Given the description of an element on the screen output the (x, y) to click on. 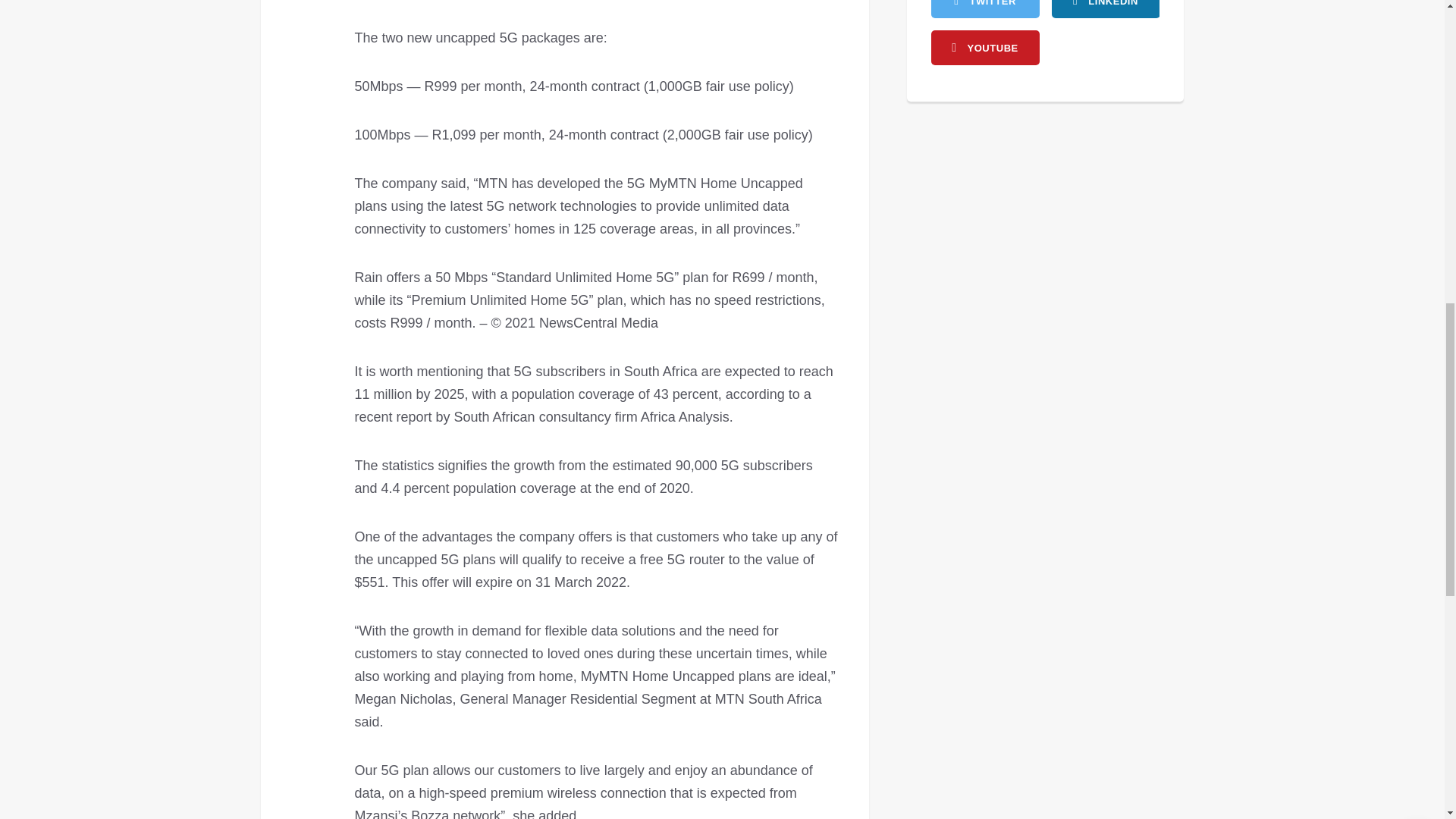
twitter (985, 9)
rss (1104, 9)
youtube (985, 47)
